Given the description of an element on the screen output the (x, y) to click on. 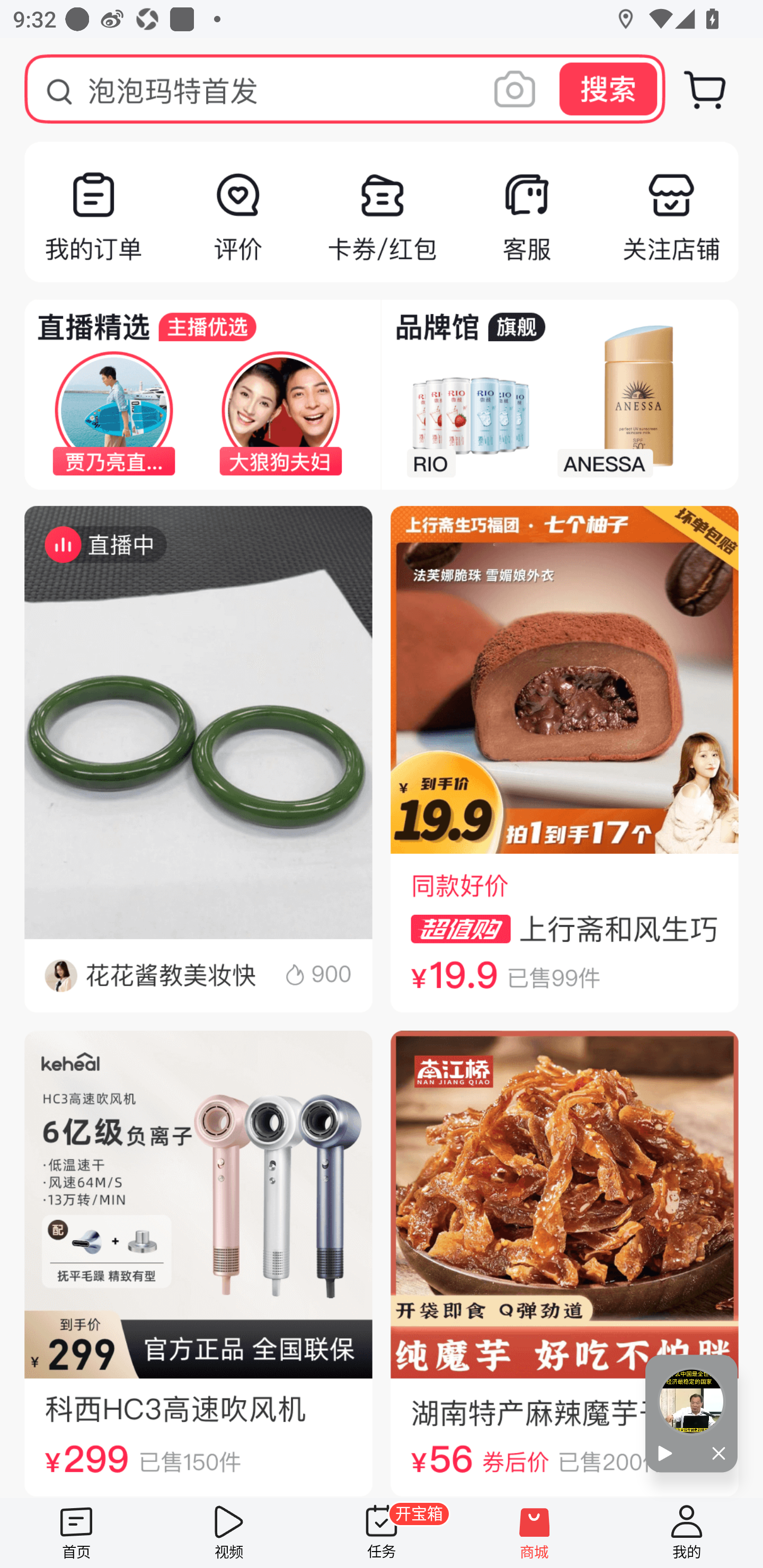
当前进度 0% 播放 关闭 (691, 1413)
播放 (668, 1454)
关闭 (714, 1454)
首页 (76, 1532)
视频 (228, 1532)
任务 开宝箱 (381, 1532)
商城 (533, 1532)
我的 (686, 1532)
